Given the description of an element on the screen output the (x, y) to click on. 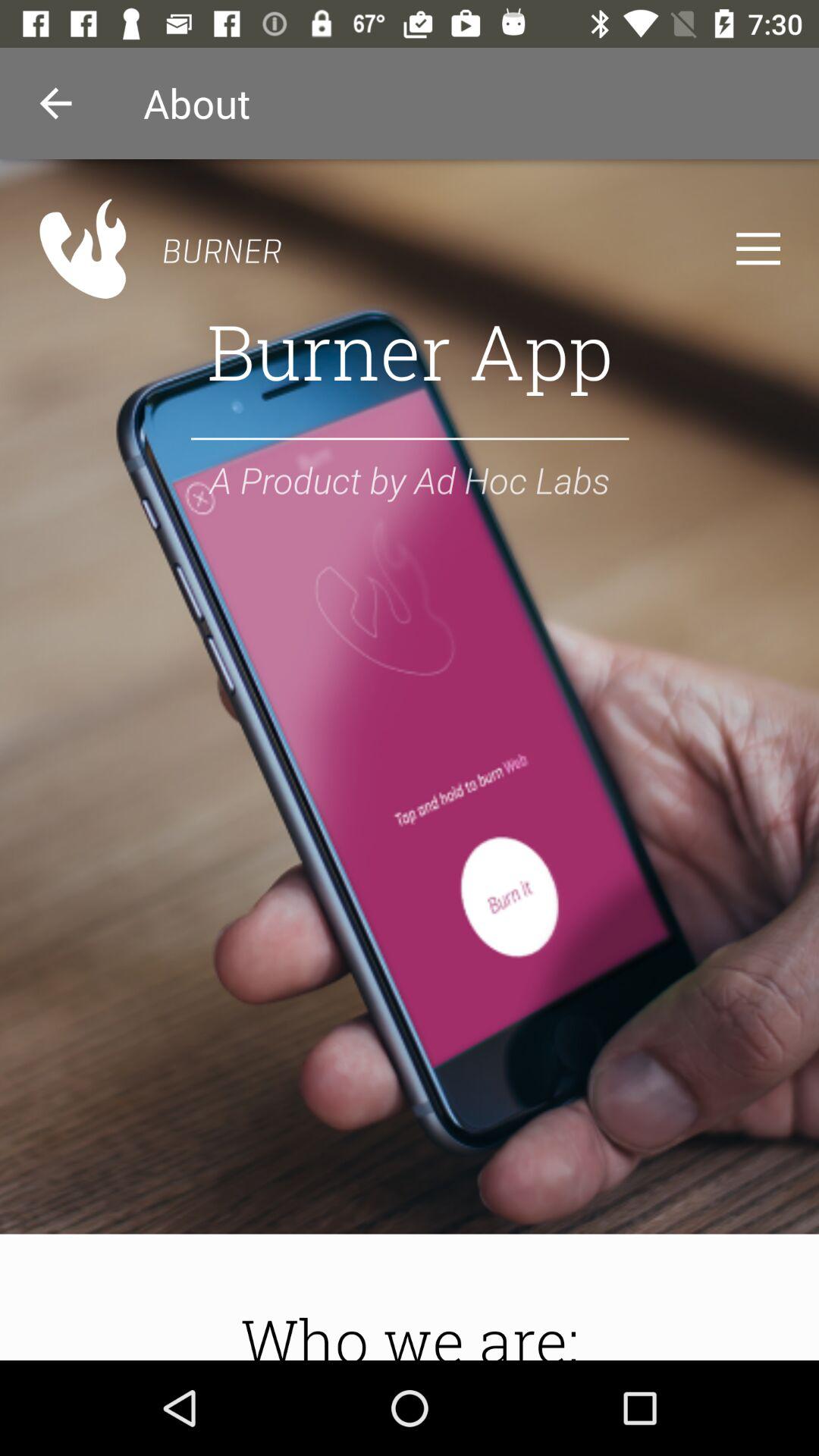
about the app (409, 759)
